Given the description of an element on the screen output the (x, y) to click on. 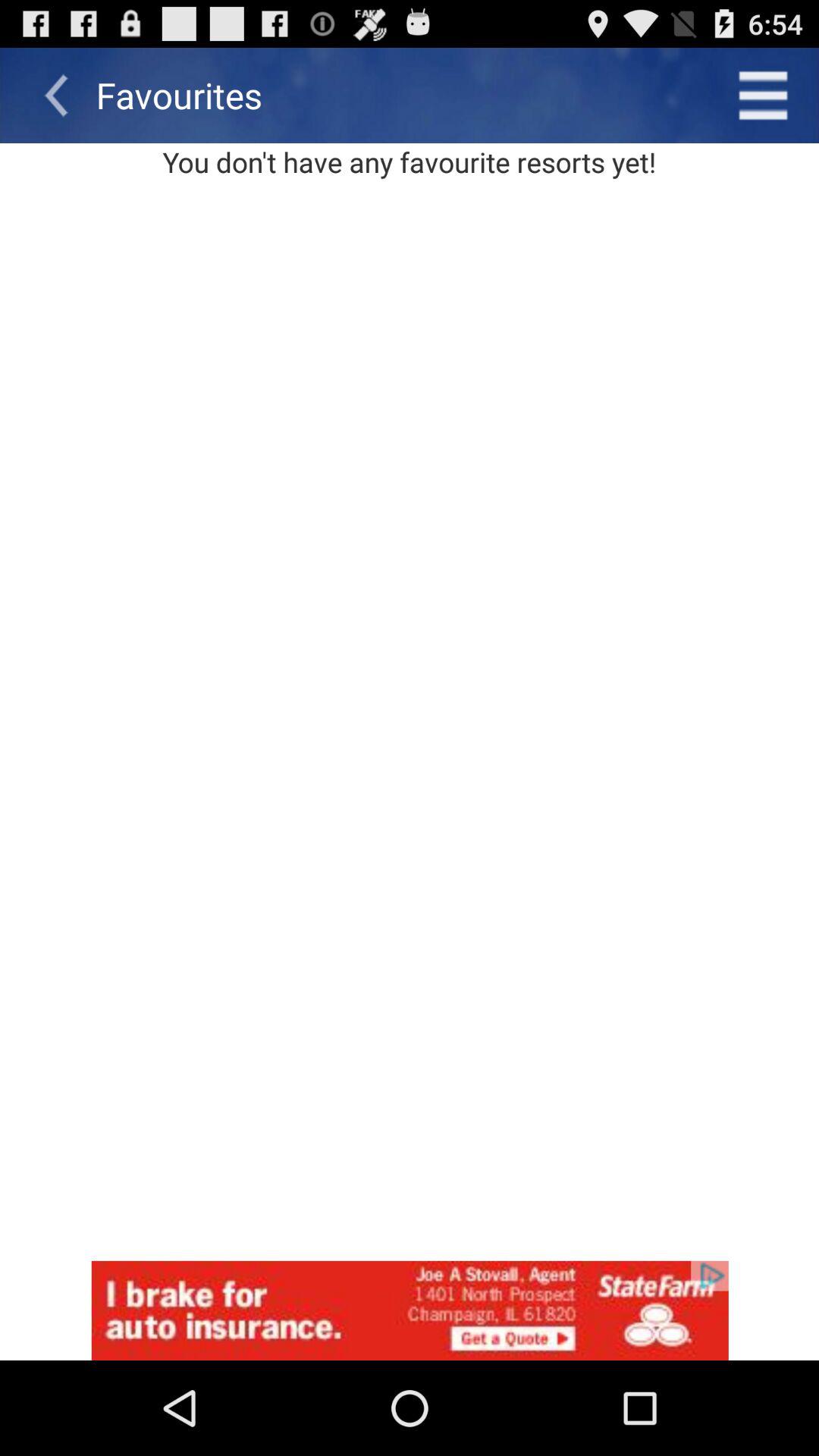
advertisement area (409, 1310)
